Given the description of an element on the screen output the (x, y) to click on. 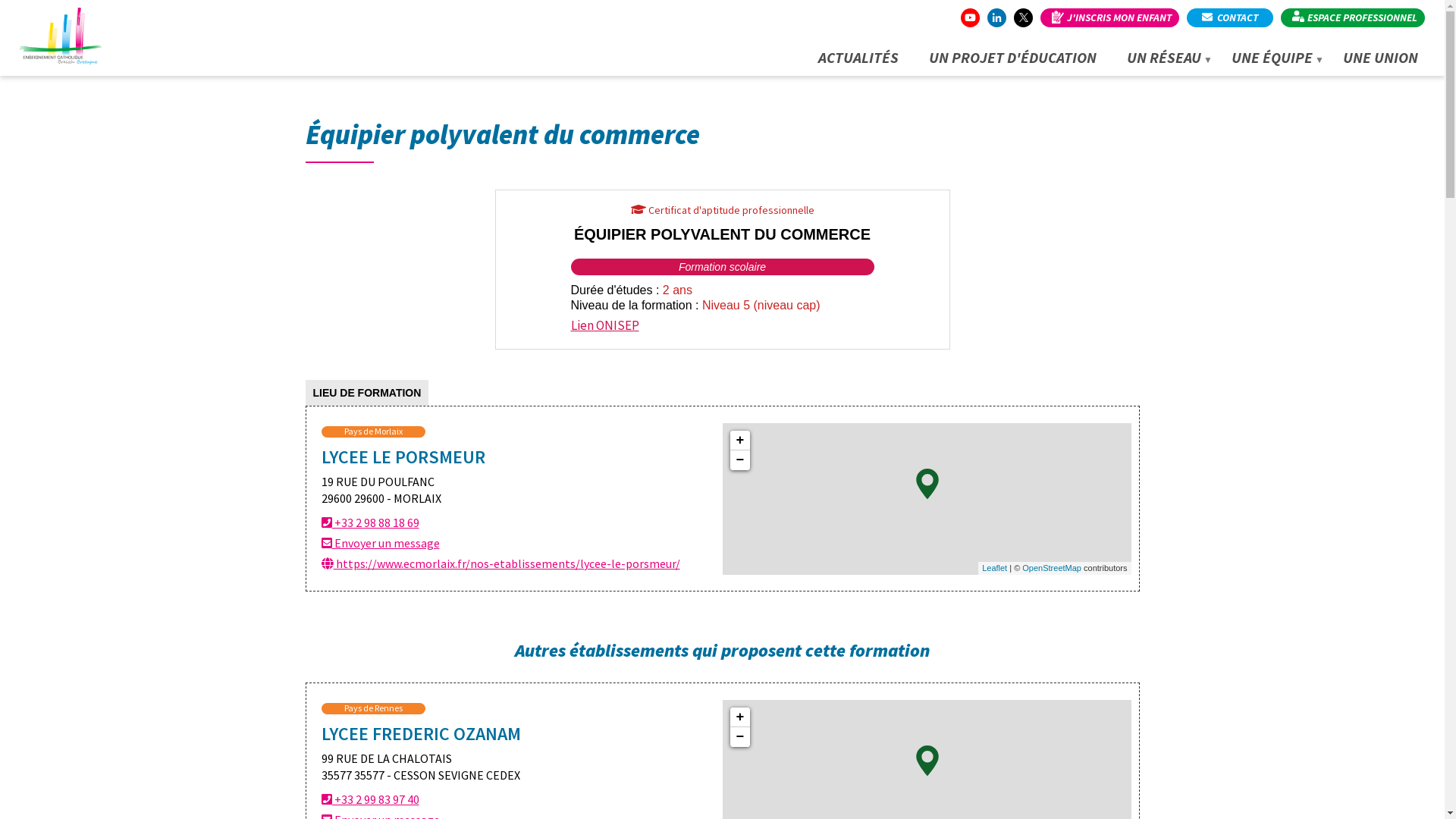
Lien ONISEP Element type: text (604, 324)
OpenStreetMap Element type: text (1051, 567)
Envoyer un message Element type: text (380, 542)
+ Element type: text (739, 440)
Leaflet Element type: text (994, 567)
J'INSCRIS MON ENFANT Element type: text (1109, 17)
+ Element type: text (739, 716)
UNE UNION Element type: text (1380, 54)
  CONTACT Element type: text (1229, 17)
ESPACE PROFESSIONNEL Element type: text (1352, 17)
+33 2 98 88 18 69 Element type: text (370, 522)
+33 2 99 83 97 40 Element type: text (370, 798)
Aller au contenu principal Element type: text (0, 0)
